Given the description of an element on the screen output the (x, y) to click on. 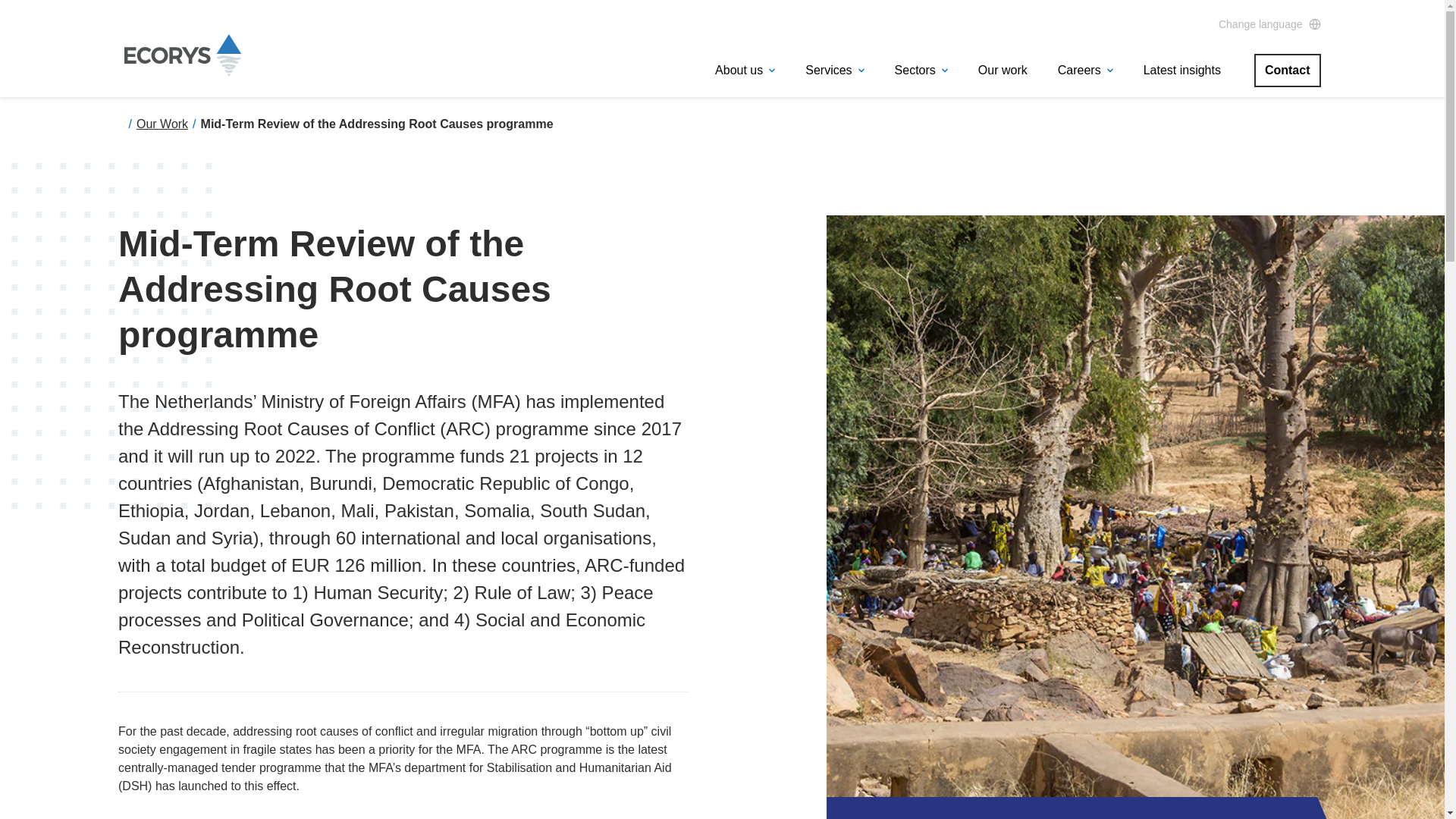
Go to Our Work. (161, 123)
Change language (1269, 24)
About us (745, 69)
Ecorys (182, 54)
Sectors (920, 69)
Services (834, 69)
Ecorys (182, 71)
